Given the description of an element on the screen output the (x, y) to click on. 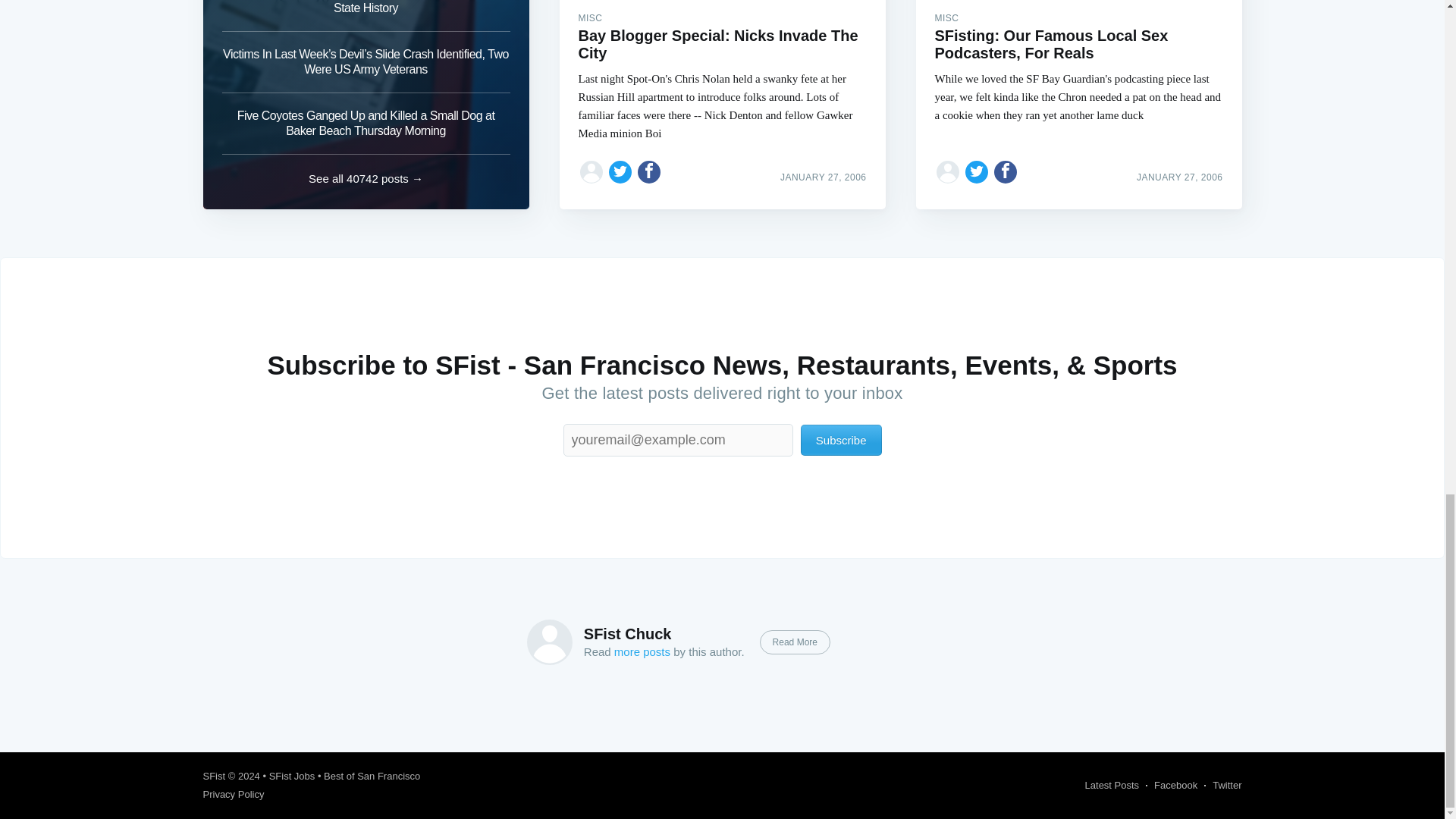
Share on Twitter (976, 171)
Share on Facebook (1004, 171)
Share on Twitter (620, 171)
Share on Facebook (649, 171)
